Given the description of an element on the screen output the (x, y) to click on. 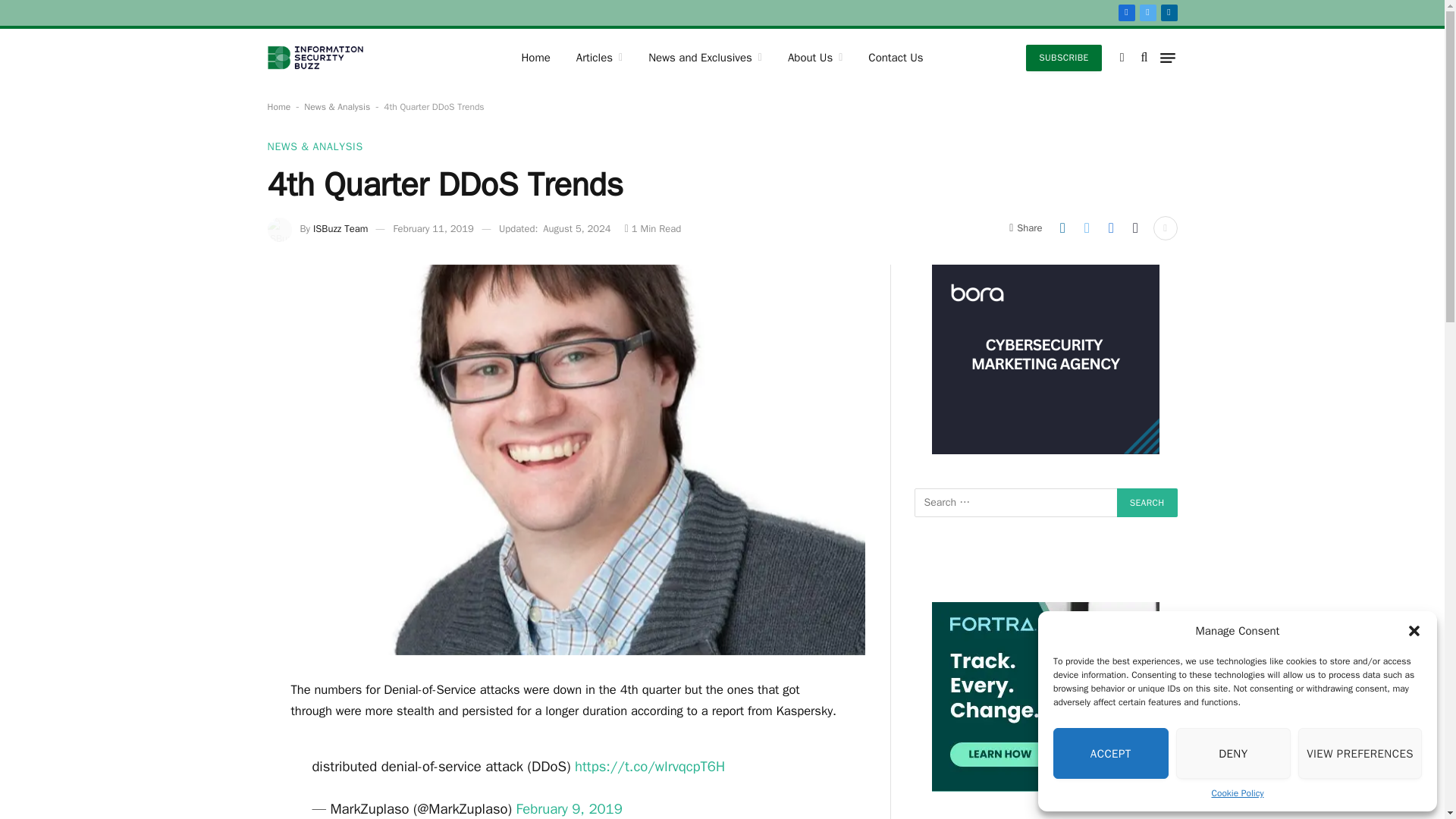
Search (1146, 502)
Cookie Policy (1237, 793)
Search (1146, 502)
Share on Facebook (1110, 228)
Switch to Dark Design - easier on eyes. (1122, 57)
DENY (1233, 753)
Copy Link (1135, 228)
Show More Social Sharing (1164, 228)
ACCEPT (1110, 753)
Information Security Buzz (314, 57)
